Given the description of an element on the screen output the (x, y) to click on. 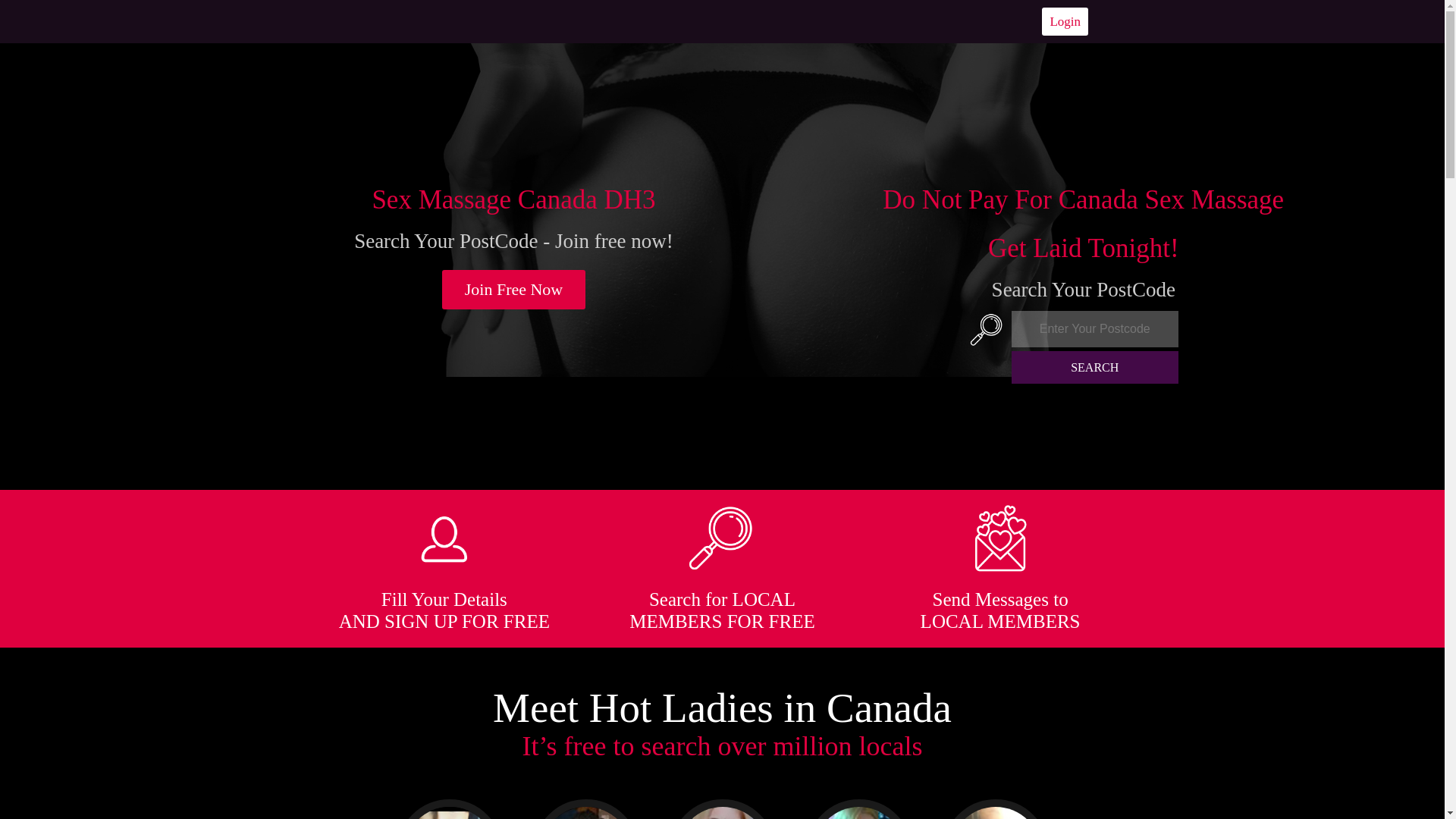
Join Free Now (514, 289)
Join (514, 289)
Login (1064, 21)
SEARCH (1094, 367)
Login (1064, 21)
